Given the description of an element on the screen output the (x, y) to click on. 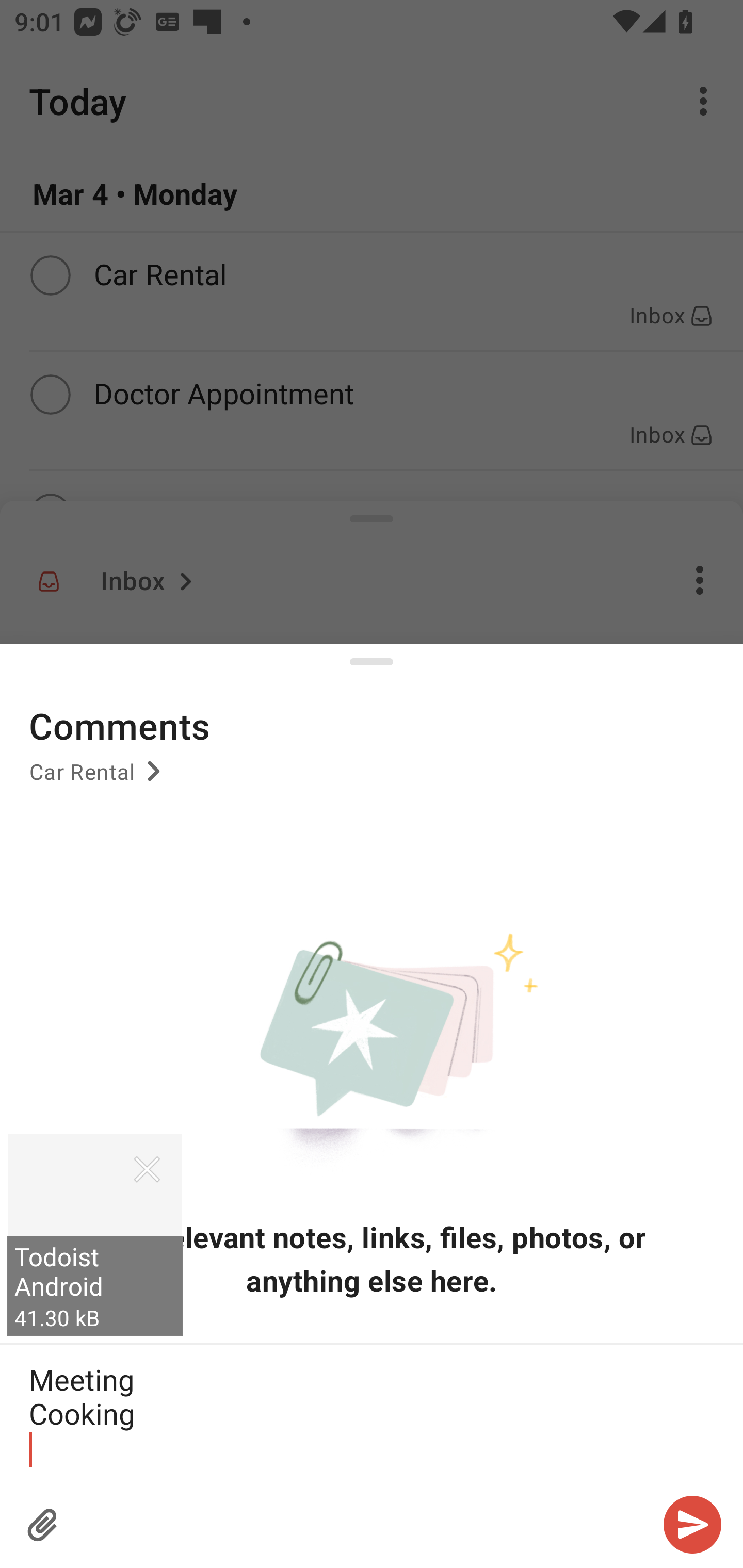
Car Rental (97, 778)
Remove attachment (146, 1169)
Meeting
Cooking
 (371, 1413)
Attachment (43, 1524)
Submit (692, 1524)
